Given the description of an element on the screen output the (x, y) to click on. 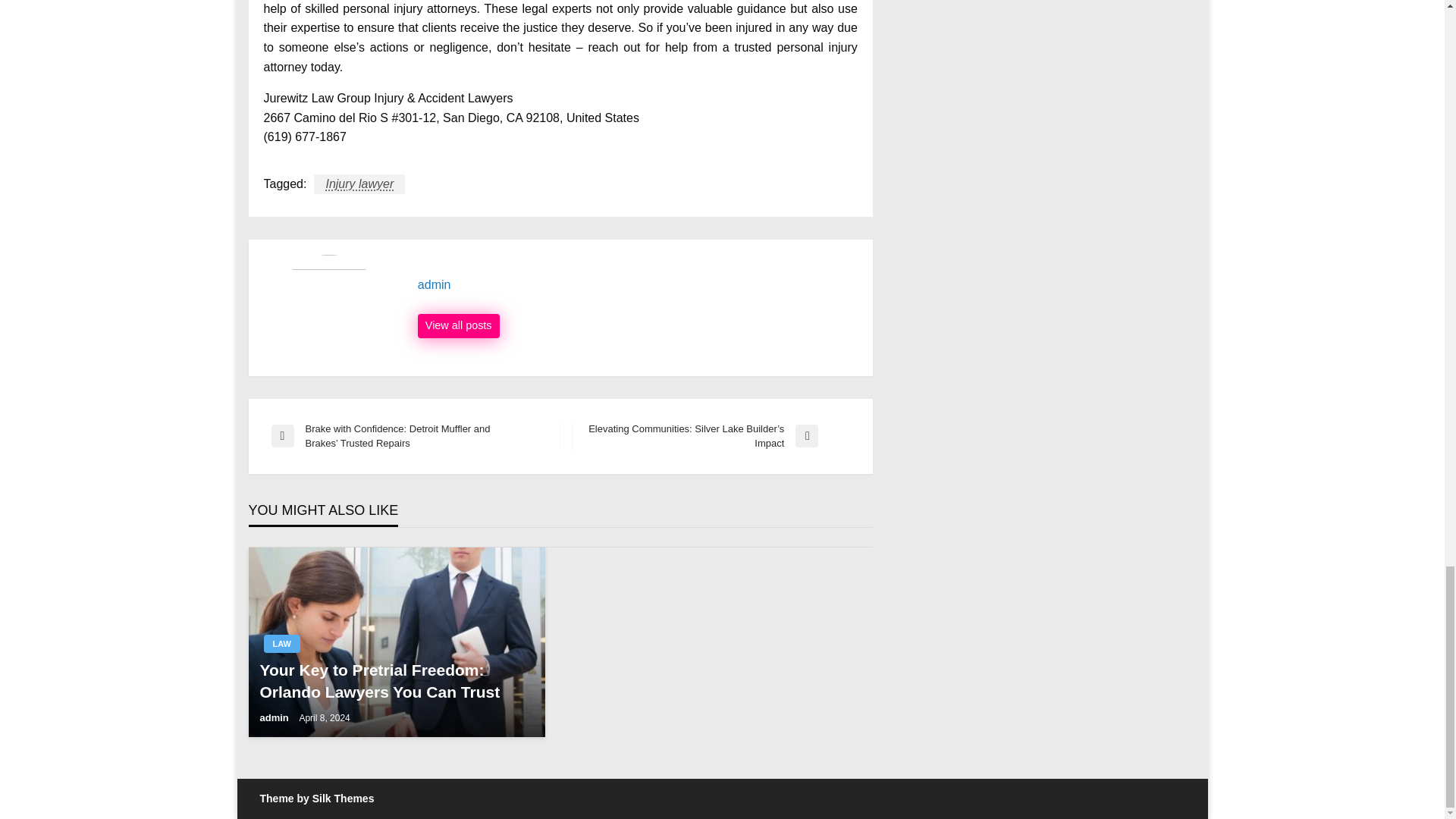
admin (637, 284)
Injury lawyer (359, 184)
View all posts (458, 325)
LAW (281, 643)
admin (637, 284)
admin (458, 325)
Your Key to Pretrial Freedom: Orlando Lawyers You Can Trust (396, 681)
admin (275, 717)
